Given the description of an element on the screen output the (x, y) to click on. 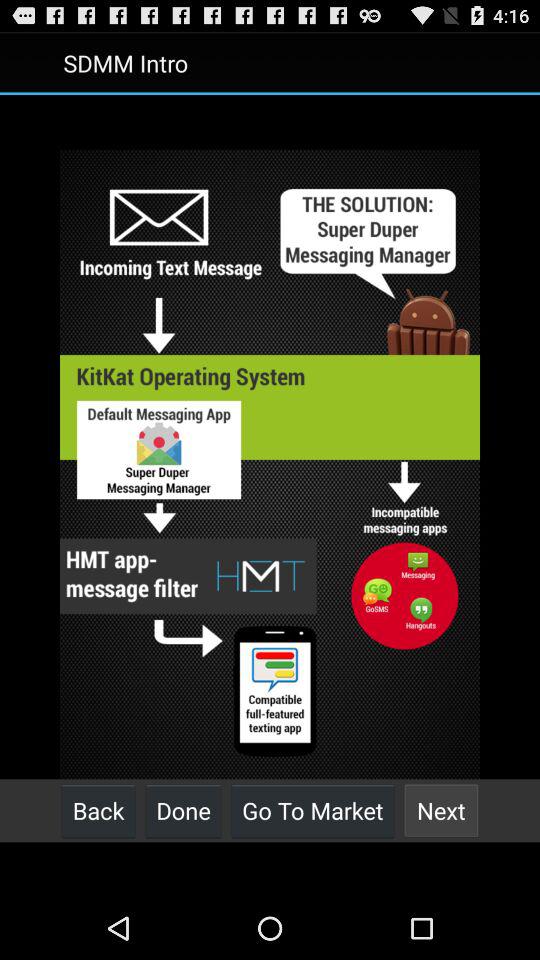
click the go to market (312, 810)
